Given the description of an element on the screen output the (x, y) to click on. 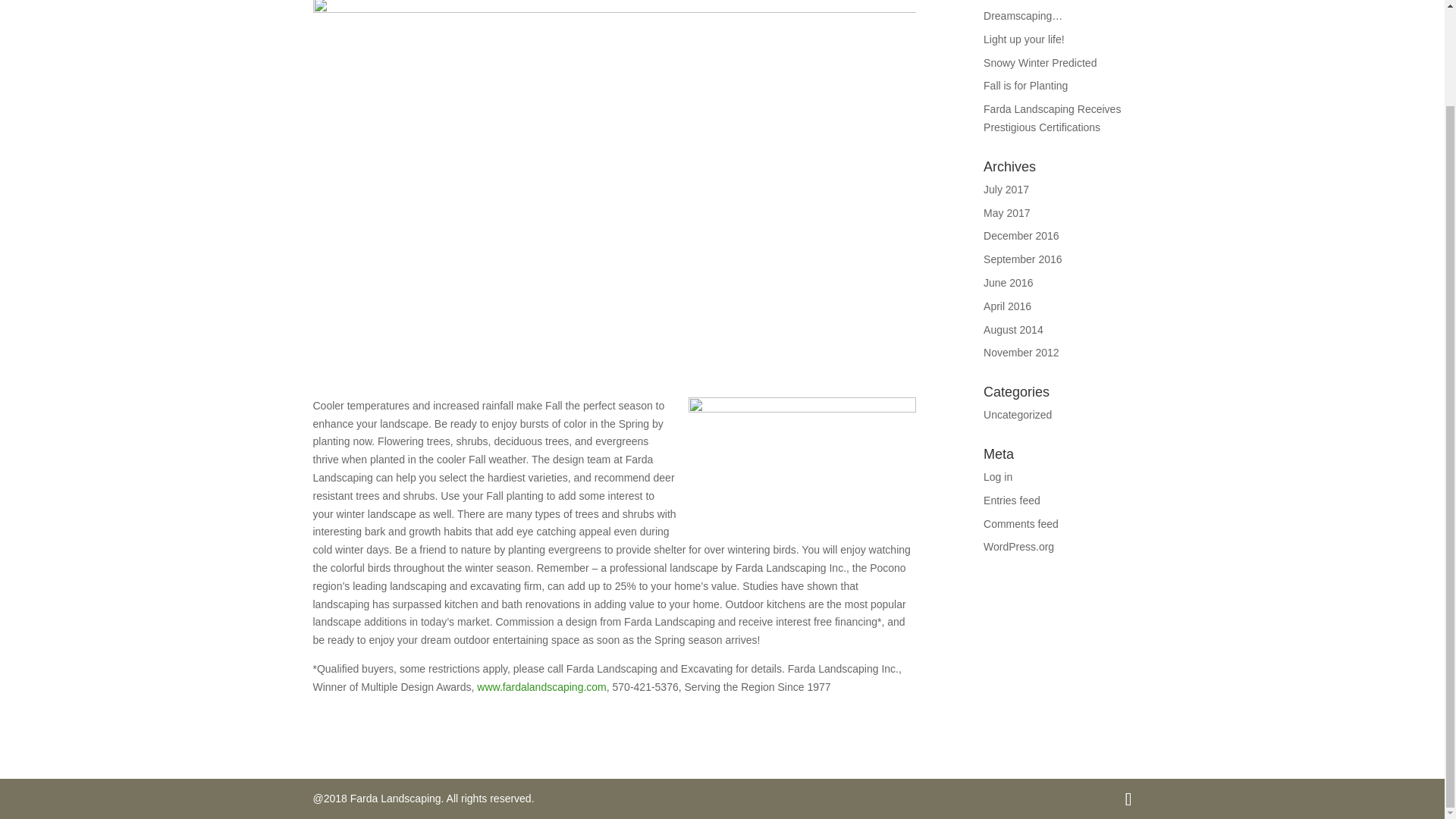
June 2016 (1008, 282)
Entries feed (1012, 500)
Comments feed (1021, 523)
WordPress.org (1019, 546)
September 2016 (1023, 259)
November 2012 (1021, 352)
May 2017 (1006, 213)
Log in (997, 476)
Uncategorized (1017, 414)
December 2016 (1021, 235)
July 2017 (1006, 189)
Farda Landscaping Receives Prestigious Certifications (1052, 118)
Snowy Winter Predicted (1040, 62)
August 2014 (1013, 329)
April 2016 (1007, 306)
